Given the description of an element on the screen output the (x, y) to click on. 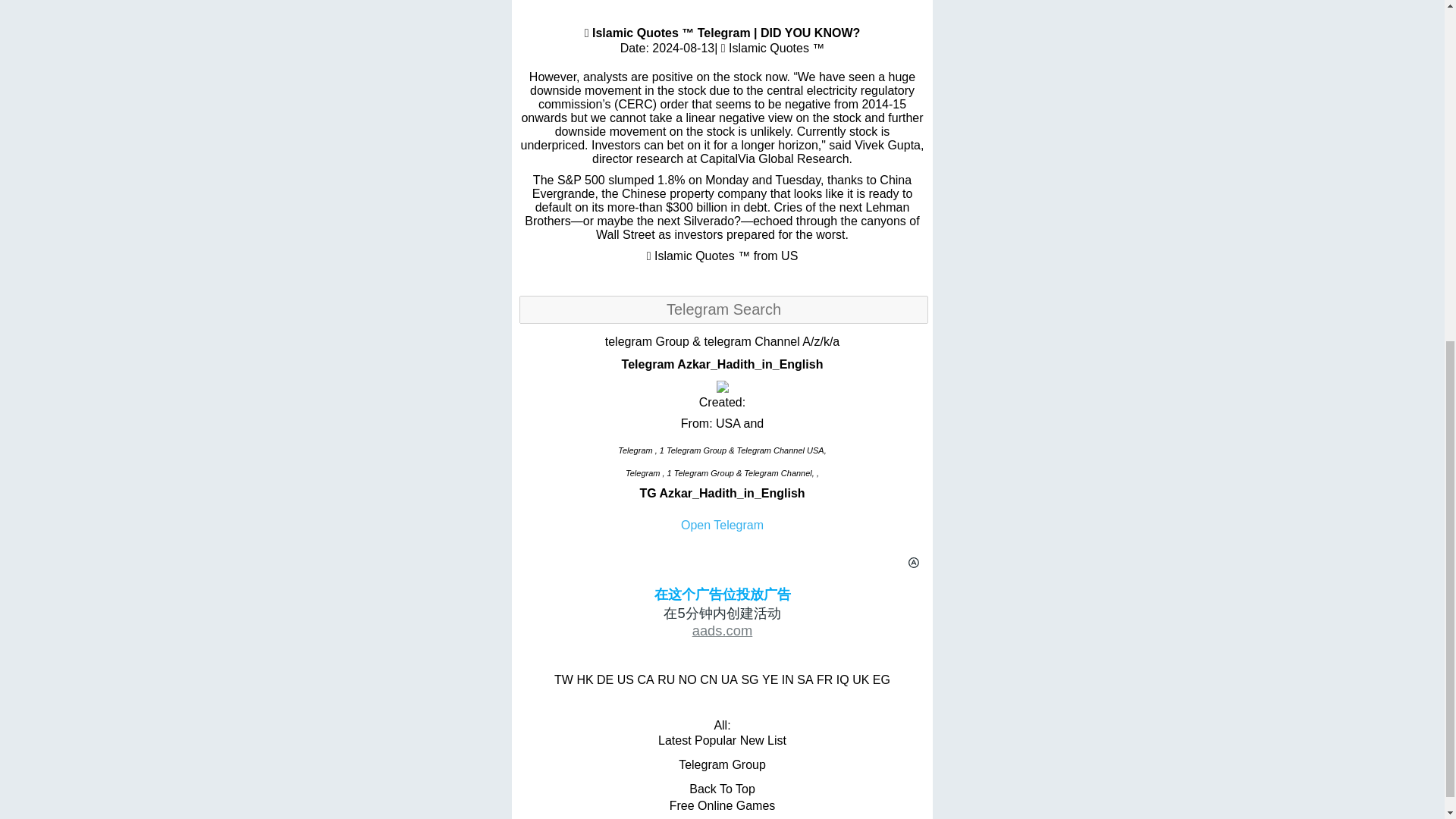
Latest Telegram List (674, 739)
Telegram Group Norway TG (687, 679)
Telegram Group Egypt (880, 679)
TW (563, 679)
IQ (841, 679)
YE (769, 679)
Telegram Group India TG (787, 679)
DE (604, 679)
CN (708, 679)
Telegram Group Singapore TG (749, 679)
